Given the description of an element on the screen output the (x, y) to click on. 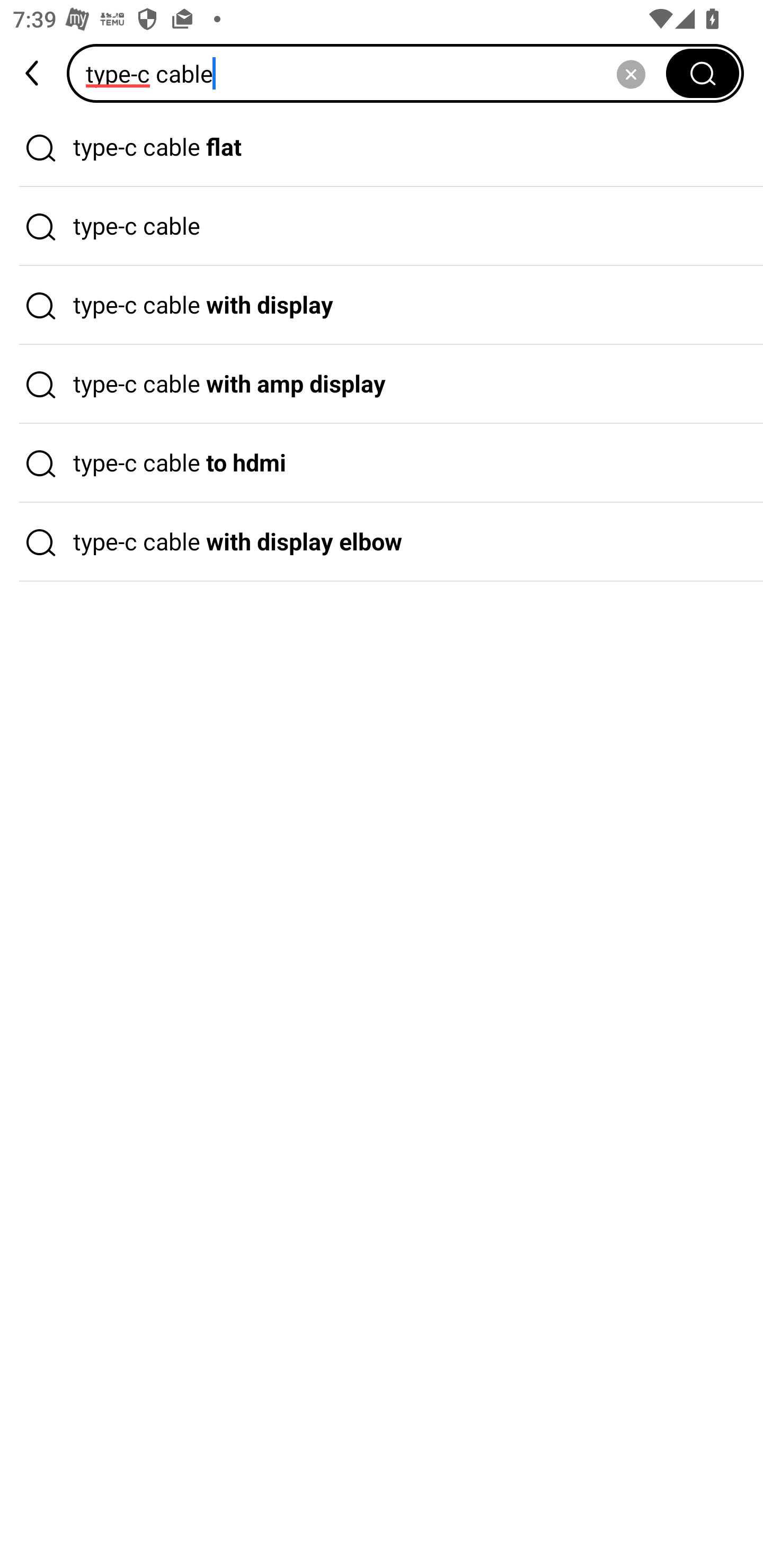
back (33, 72)
type-c cable (372, 73)
Delete search history (630, 73)
type-c cable flat (381, 147)
type-c cable (381, 226)
type-c cable with display (381, 305)
type-c cable with amp display (381, 383)
type-c cable to hdmi (381, 463)
type-c cable with display elbow (381, 542)
